Given the description of an element on the screen output the (x, y) to click on. 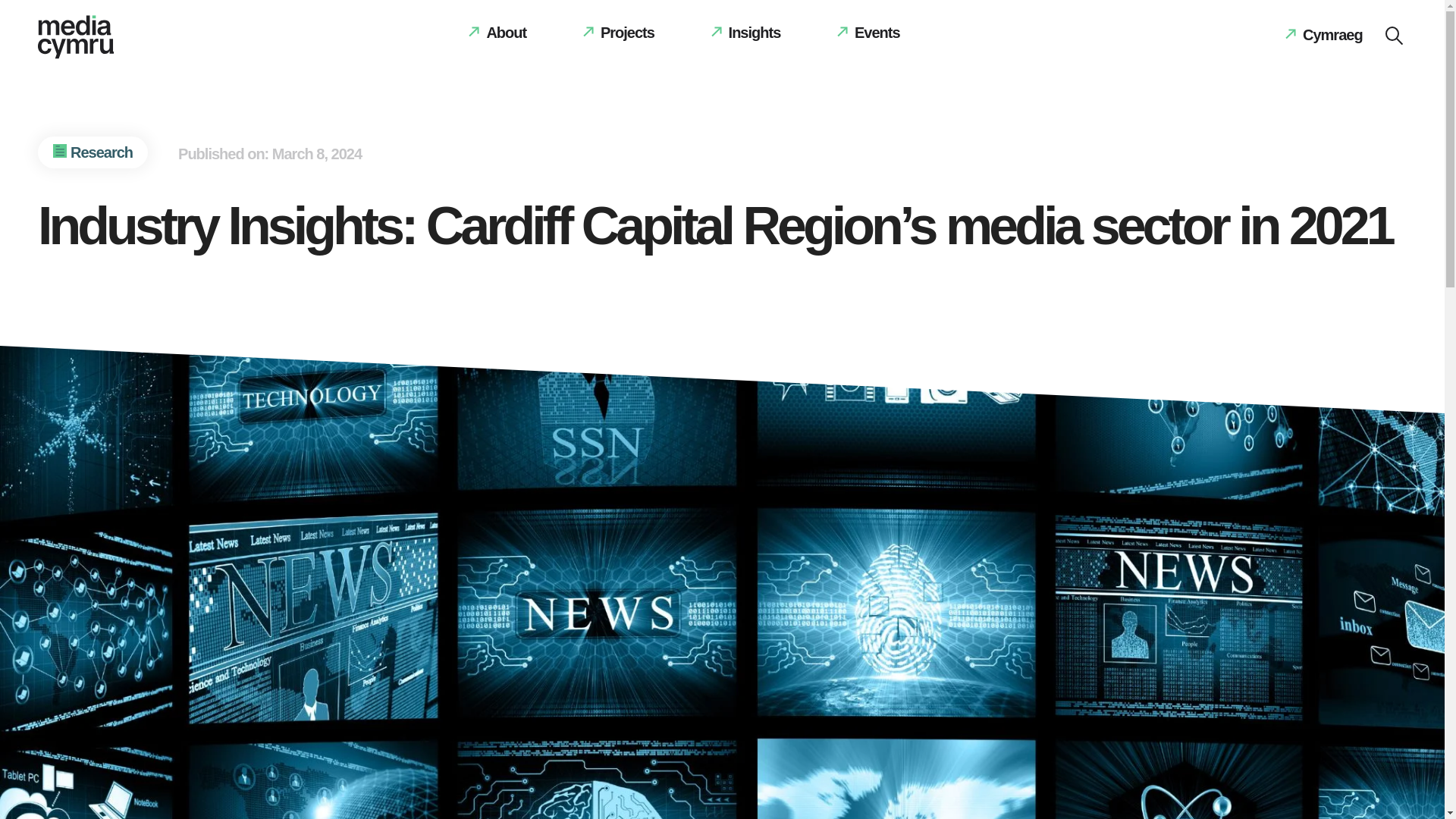
Media Cyrmu Logo (75, 40)
Events (868, 32)
Projects (618, 32)
Media Cyrmu Logo (75, 36)
Insights (745, 32)
Cymraeg (1323, 34)
About (496, 32)
